Given the description of an element on the screen output the (x, y) to click on. 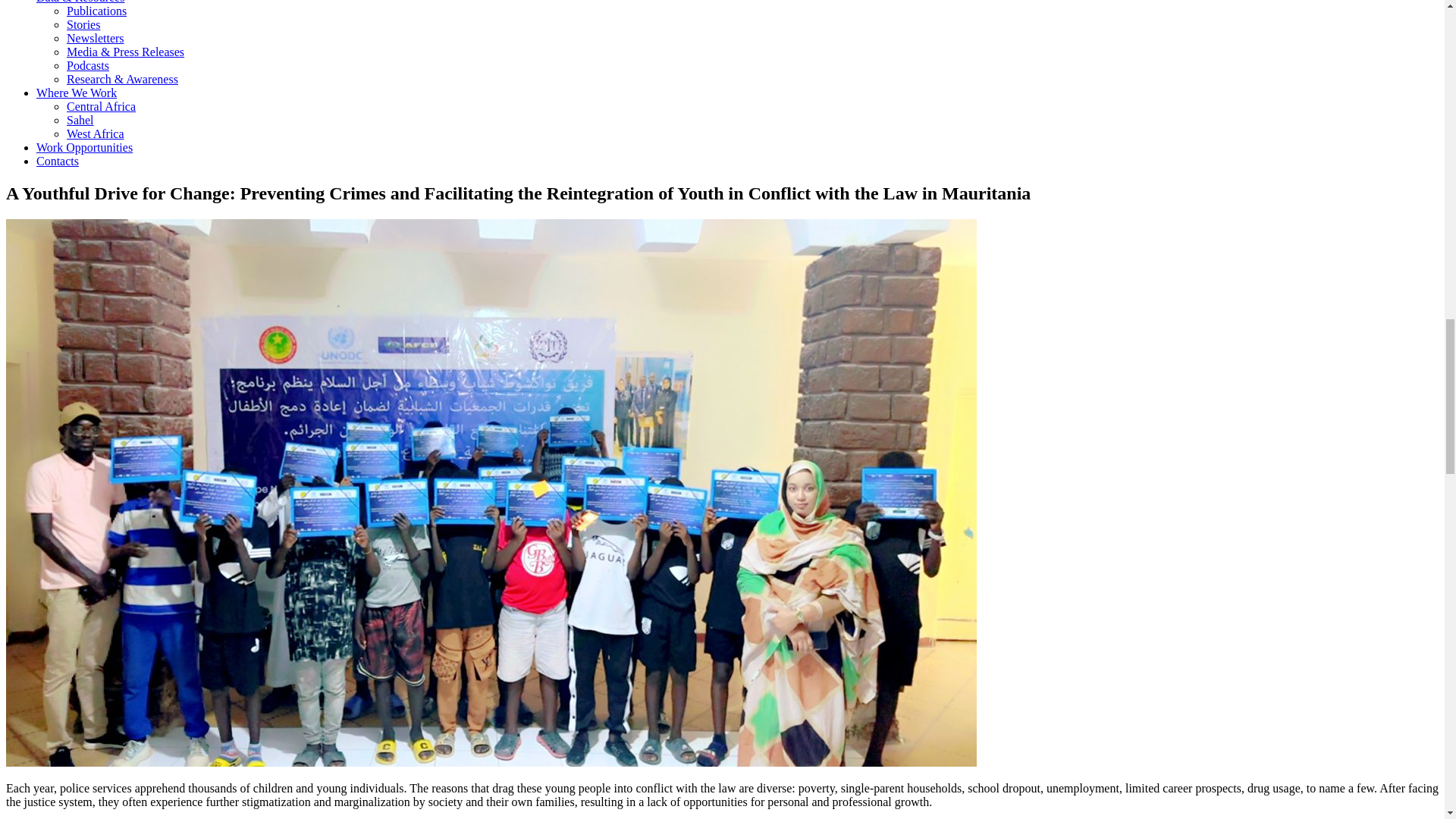
Stories (83, 24)
Central Africa (100, 106)
Sahel (80, 119)
Newsletters (94, 38)
West Africa (94, 133)
Contacts (57, 160)
Where We Work (76, 92)
Work Opportunities (84, 146)
Podcasts (87, 65)
Publications (96, 10)
